Given the description of an element on the screen output the (x, y) to click on. 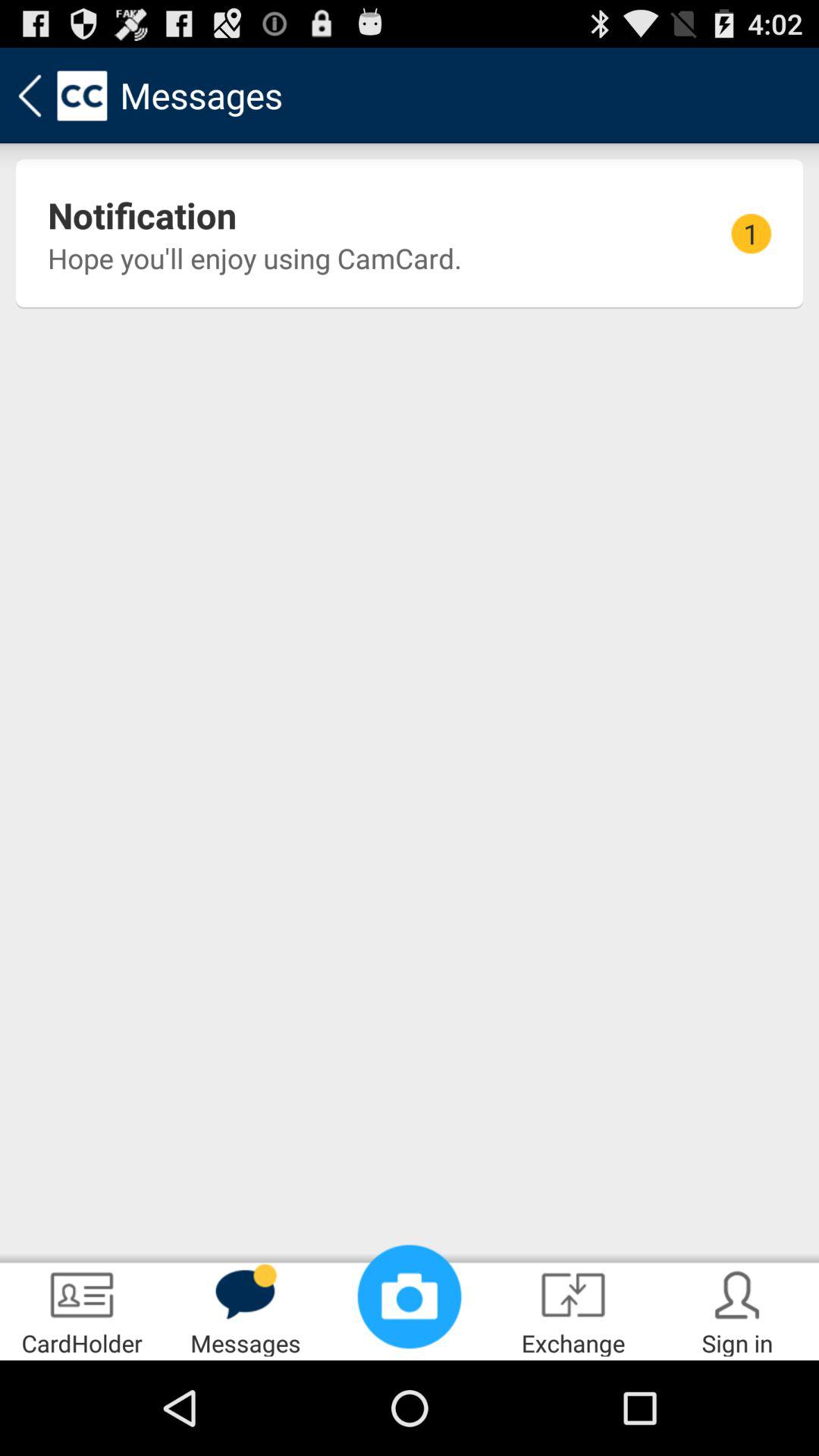
choose the item to the left of 1 item (141, 215)
